Given the description of an element on the screen output the (x, y) to click on. 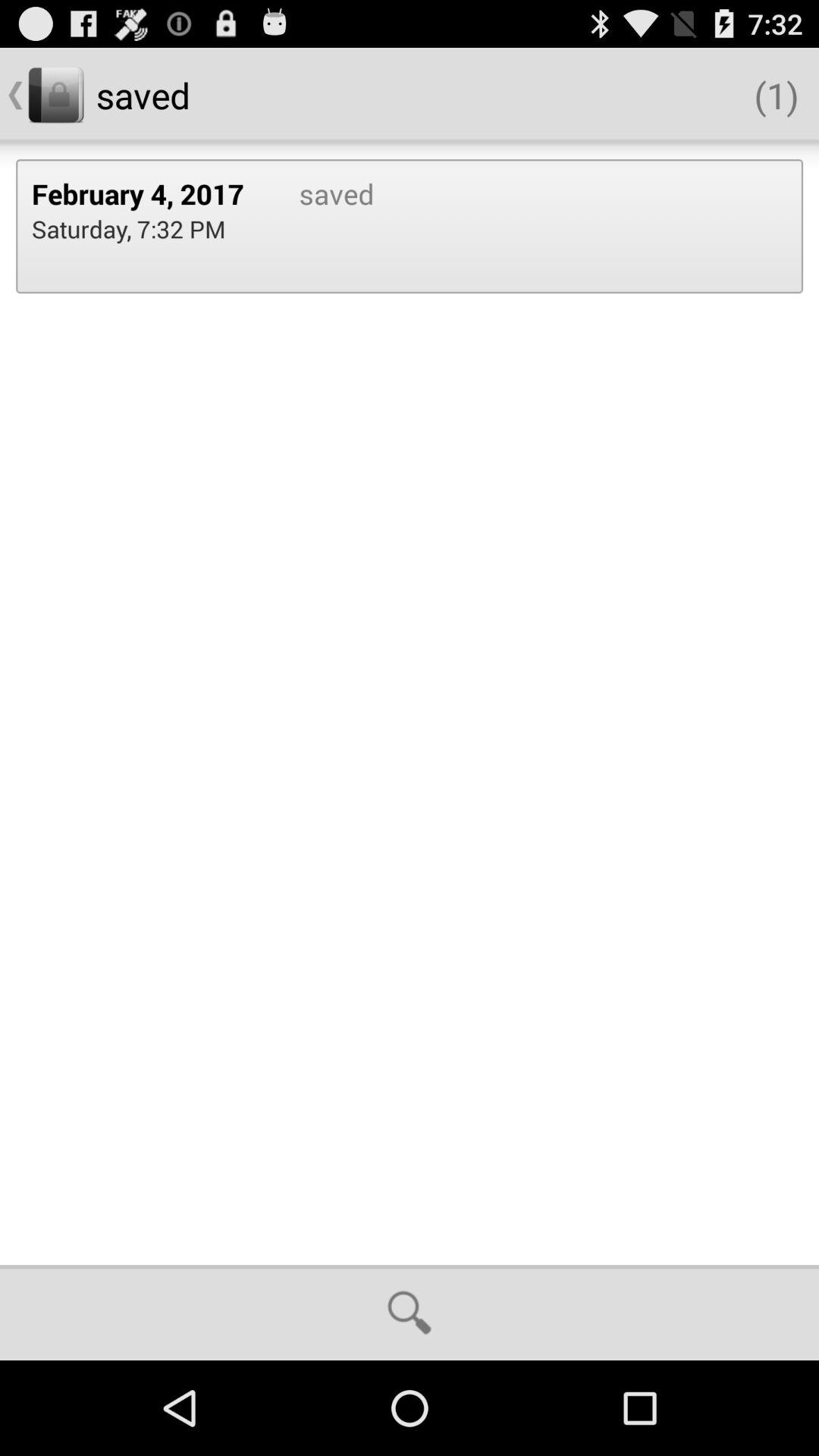
turn off icon above the saturday 7 32 app (149, 193)
